Given the description of an element on the screen output the (x, y) to click on. 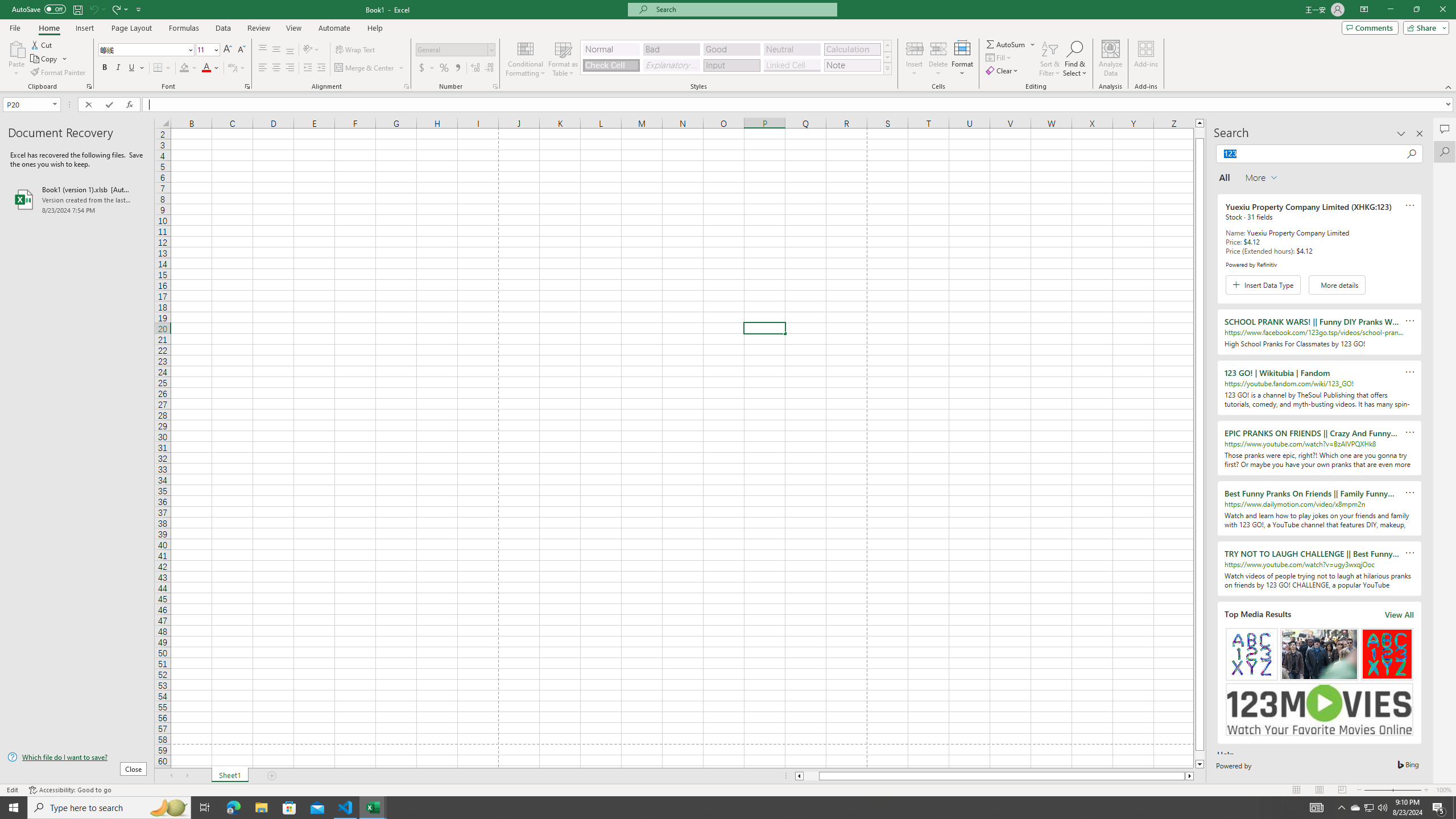
AutoSum (1011, 44)
Cell Styles (887, 68)
